Given the description of an element on the screen output the (x, y) to click on. 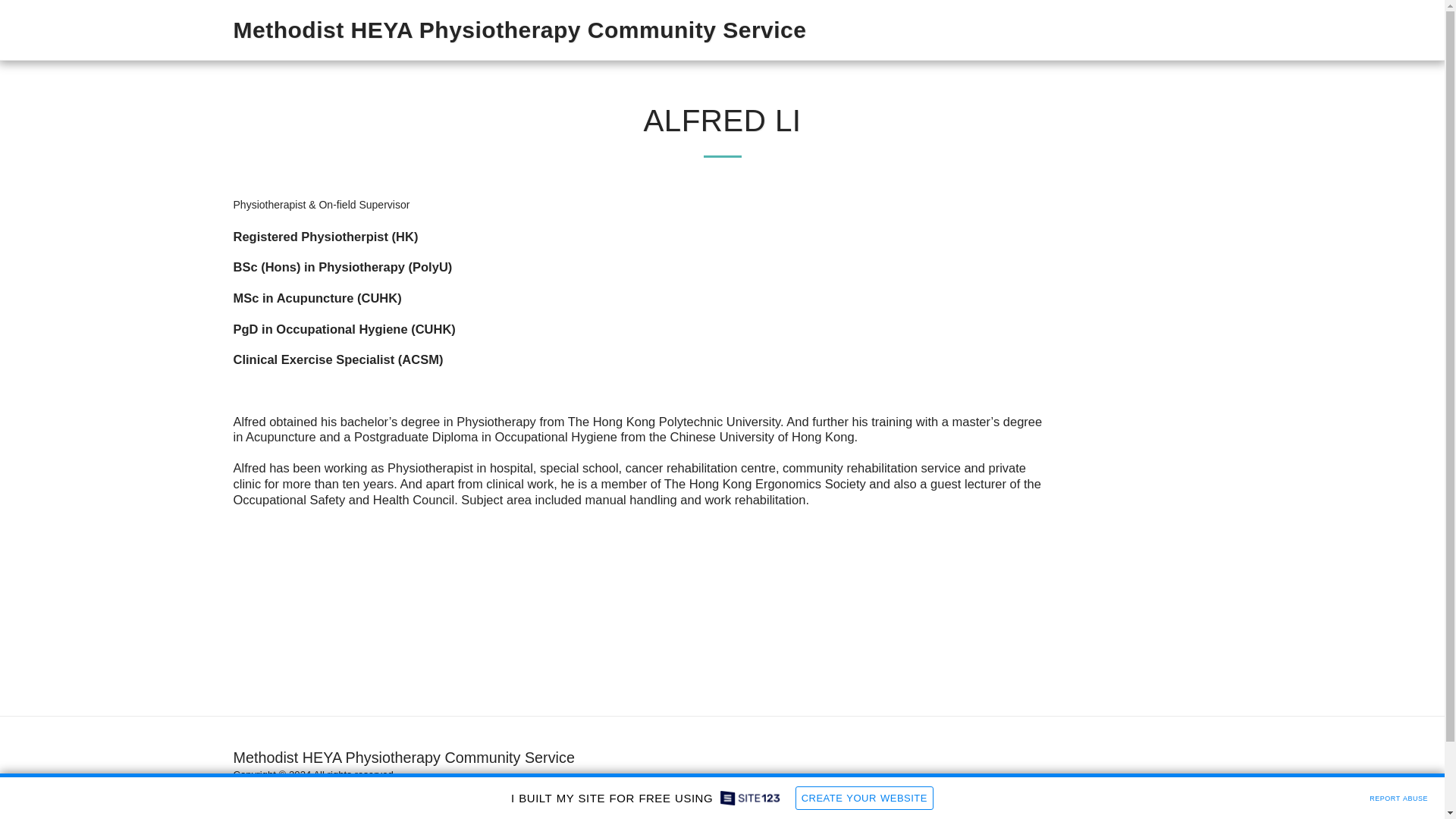
Free website builder (382, 788)
Methodist HEYA Physiotherapy Community Service (519, 30)
SITE123 (309, 788)
